Given the description of an element on the screen output the (x, y) to click on. 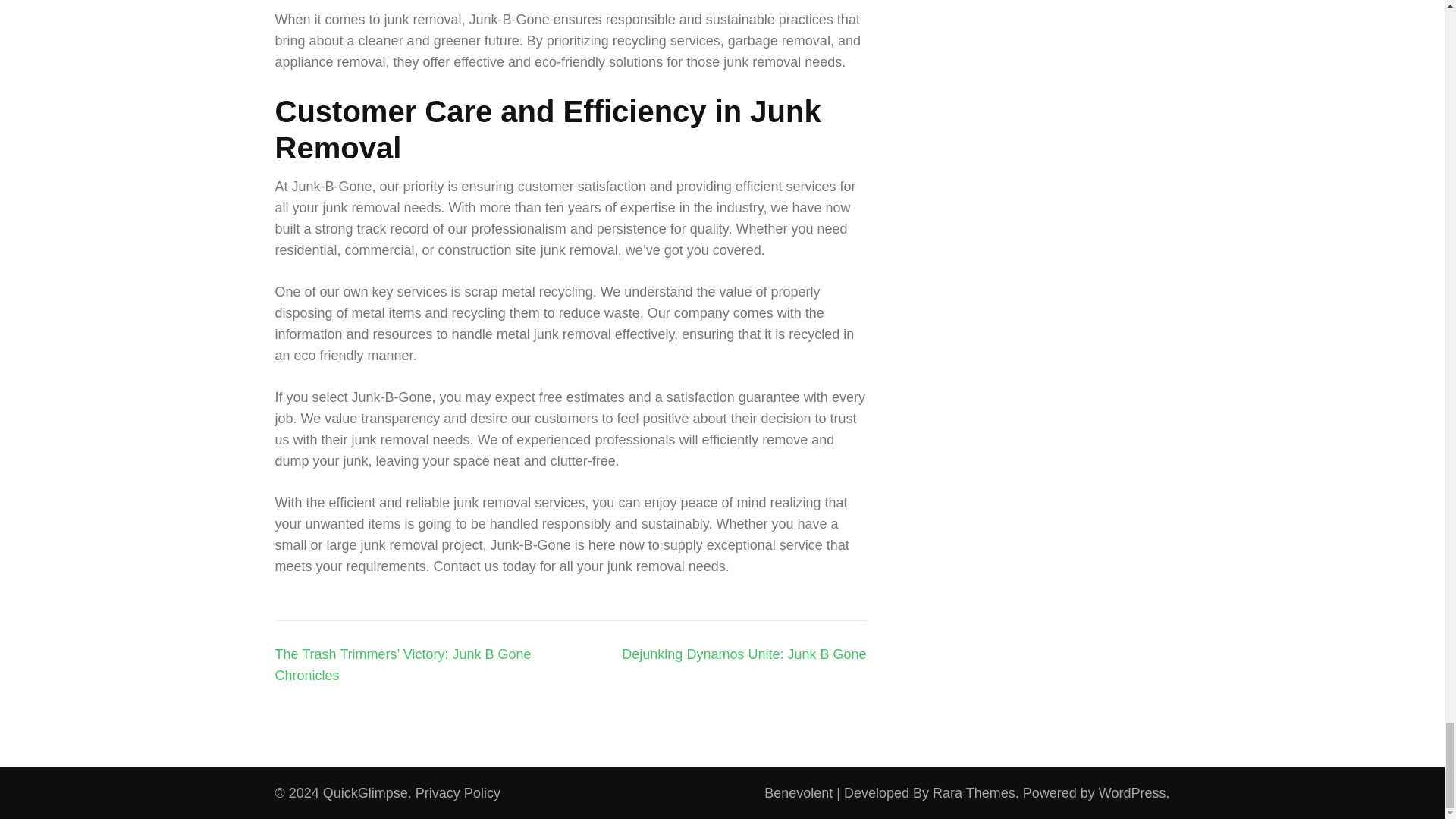
Dejunking Dynamos Unite: Junk B Gone (743, 654)
